Given the description of an element on the screen output the (x, y) to click on. 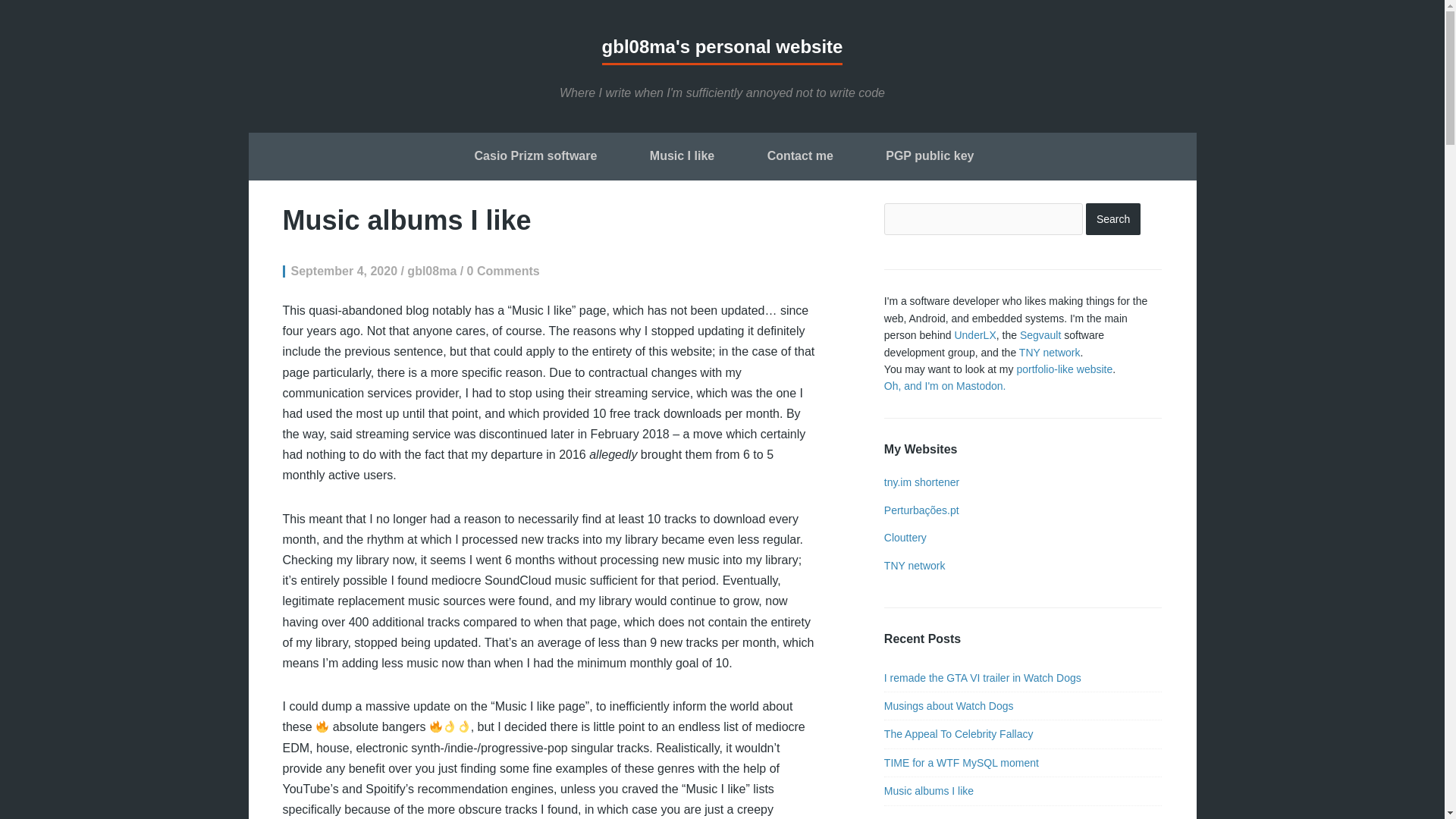
TNY network (1049, 352)
Search (1113, 219)
Oh, and I'm on Mastodon. (944, 386)
Contact me (800, 157)
Casio Prizm software (536, 157)
Music albums I like (928, 790)
Musings about Watch Dogs (948, 705)
The Appeal To Celebrity Fallacy (958, 734)
TIME for a WTF MySQL moment (961, 762)
PGP public key (929, 157)
